Given the description of an element on the screen output the (x, y) to click on. 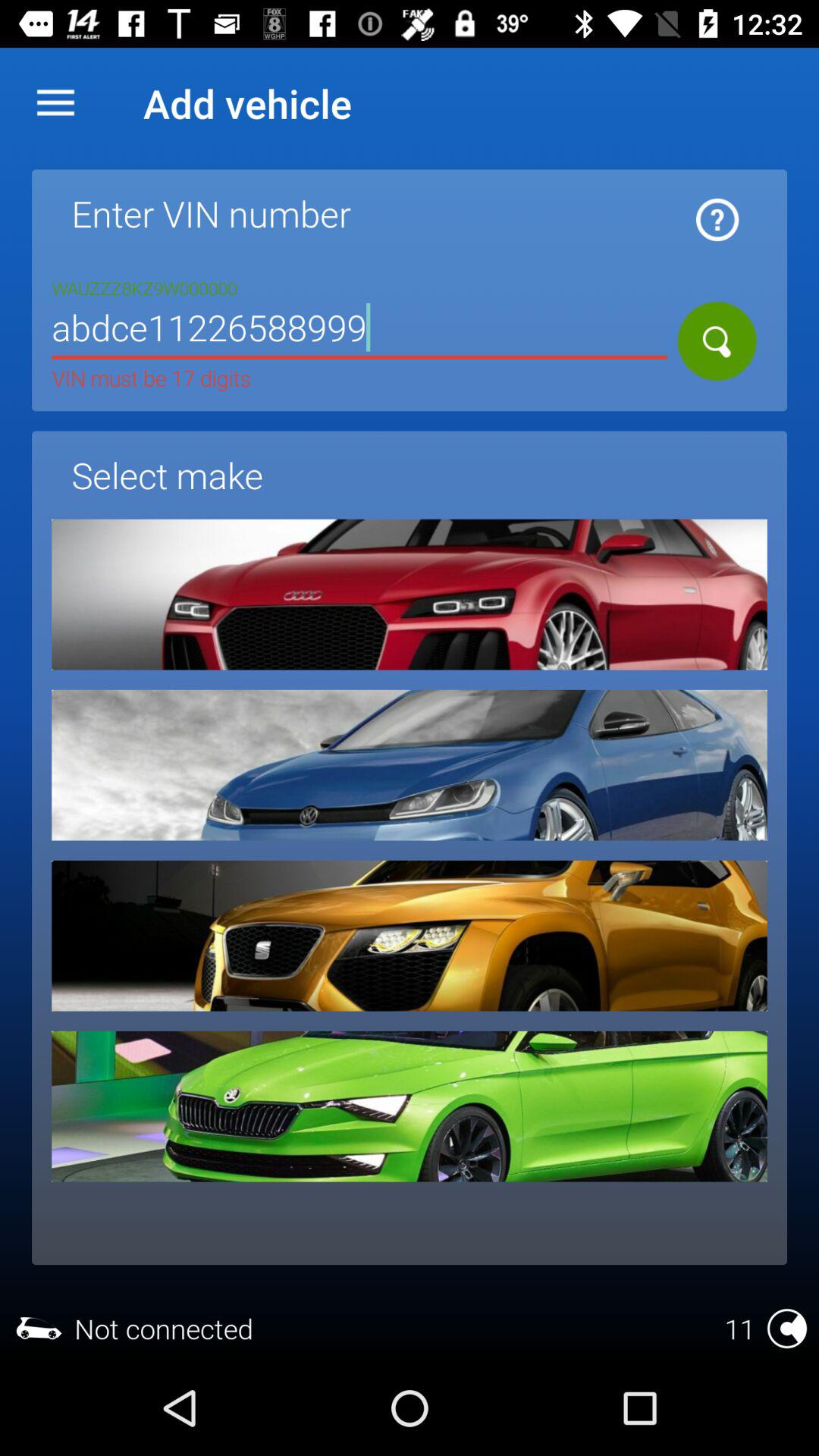
choose this make (409, 1106)
